Given the description of an element on the screen output the (x, y) to click on. 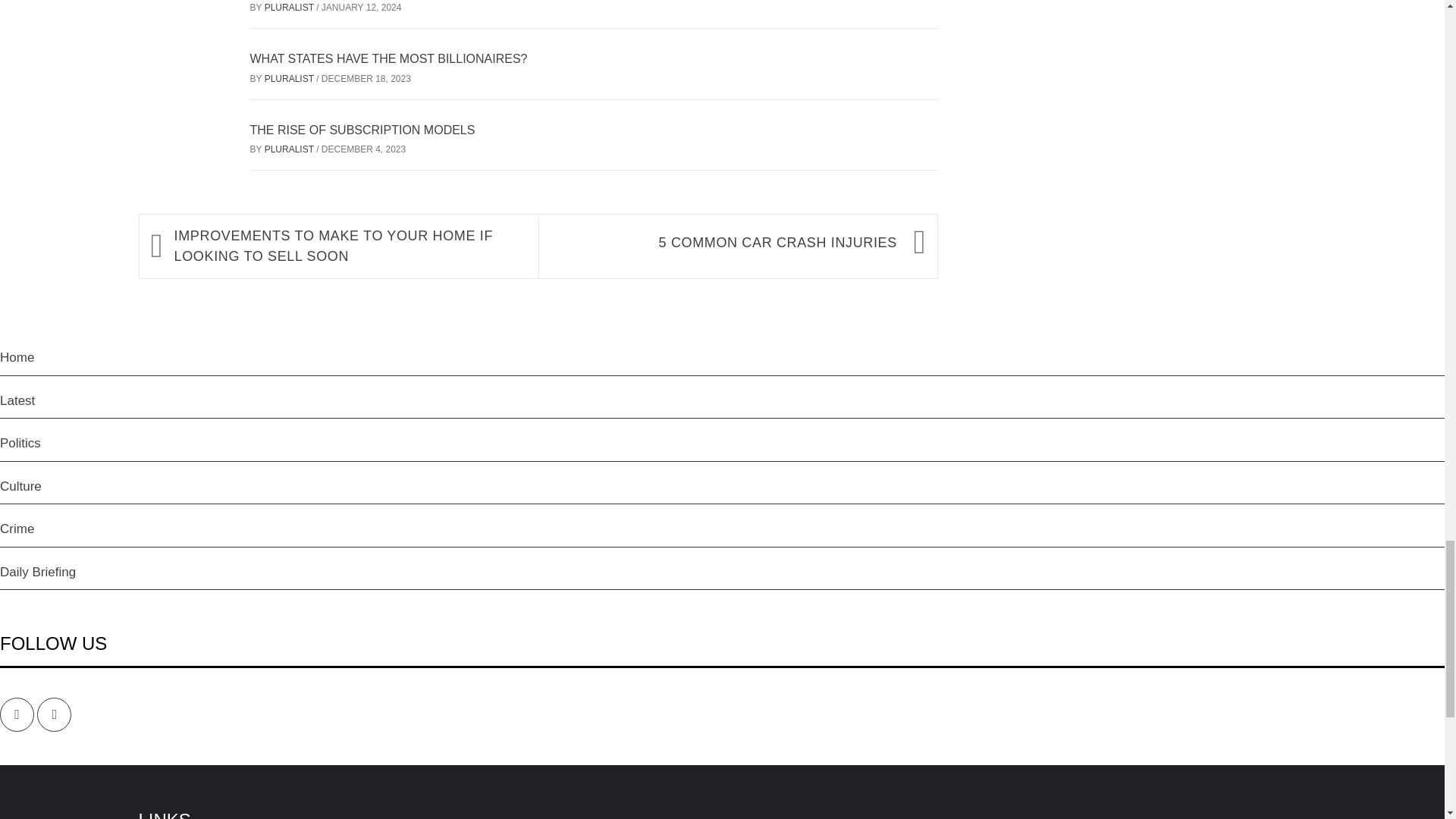
PLURALIST (289, 78)
PLURALIST (289, 149)
IMPROVEMENTS TO MAKE TO YOUR HOME IF LOOKING TO SELL SOON (348, 246)
5 COMMON CAR CRASH INJURIES (724, 242)
PLURALIST (289, 7)
WHAT STATES HAVE THE MOST BILLIONAIRES? (388, 58)
THE RISE OF SUBSCRIPTION MODELS (363, 129)
